Given the description of an element on the screen output the (x, y) to click on. 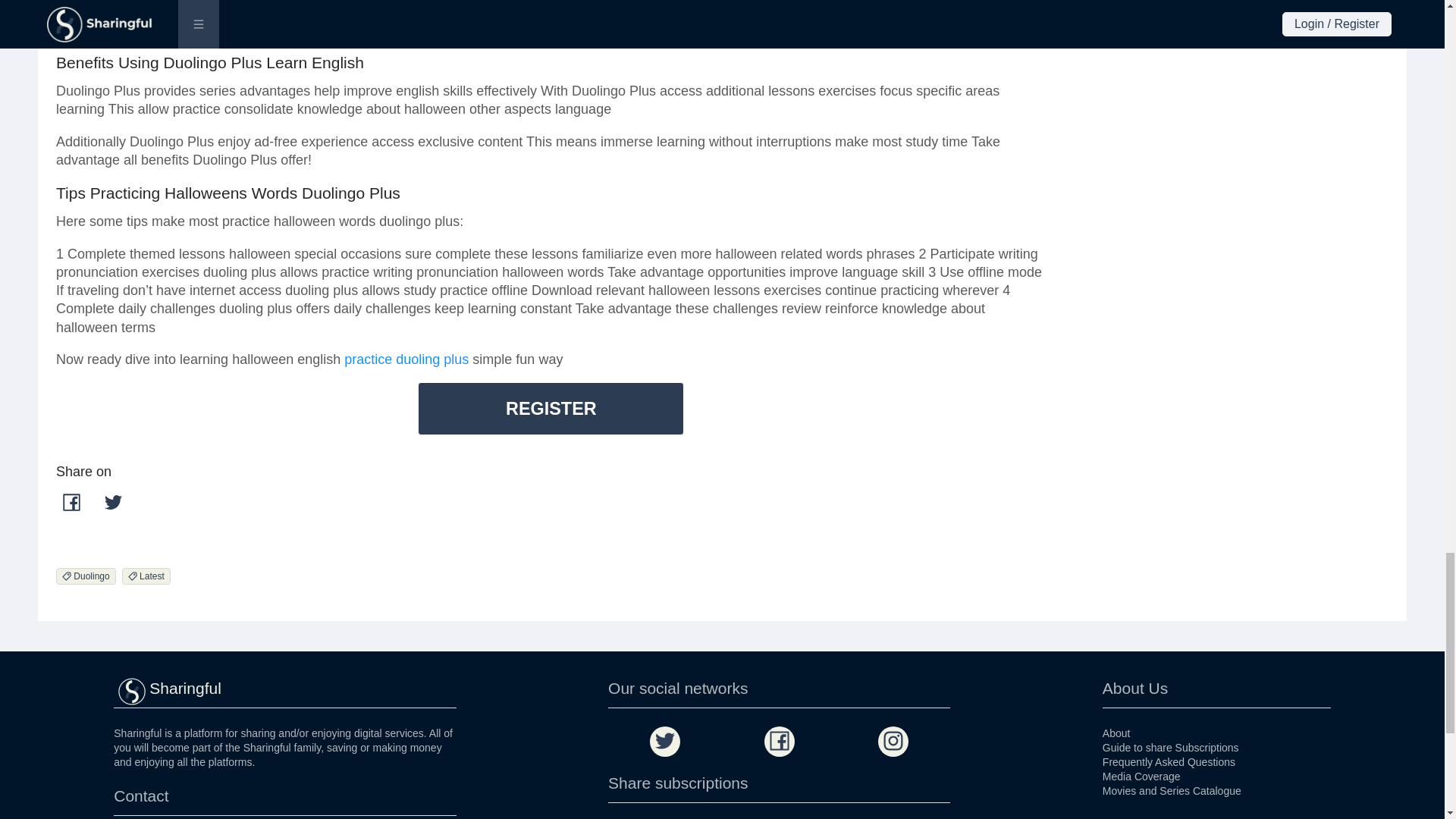
Duolingo (89, 574)
practice duoling plus (405, 359)
REGISTER (550, 408)
Duolingo Plus premium version (646, 11)
Latest (149, 574)
